Given the description of an element on the screen output the (x, y) to click on. 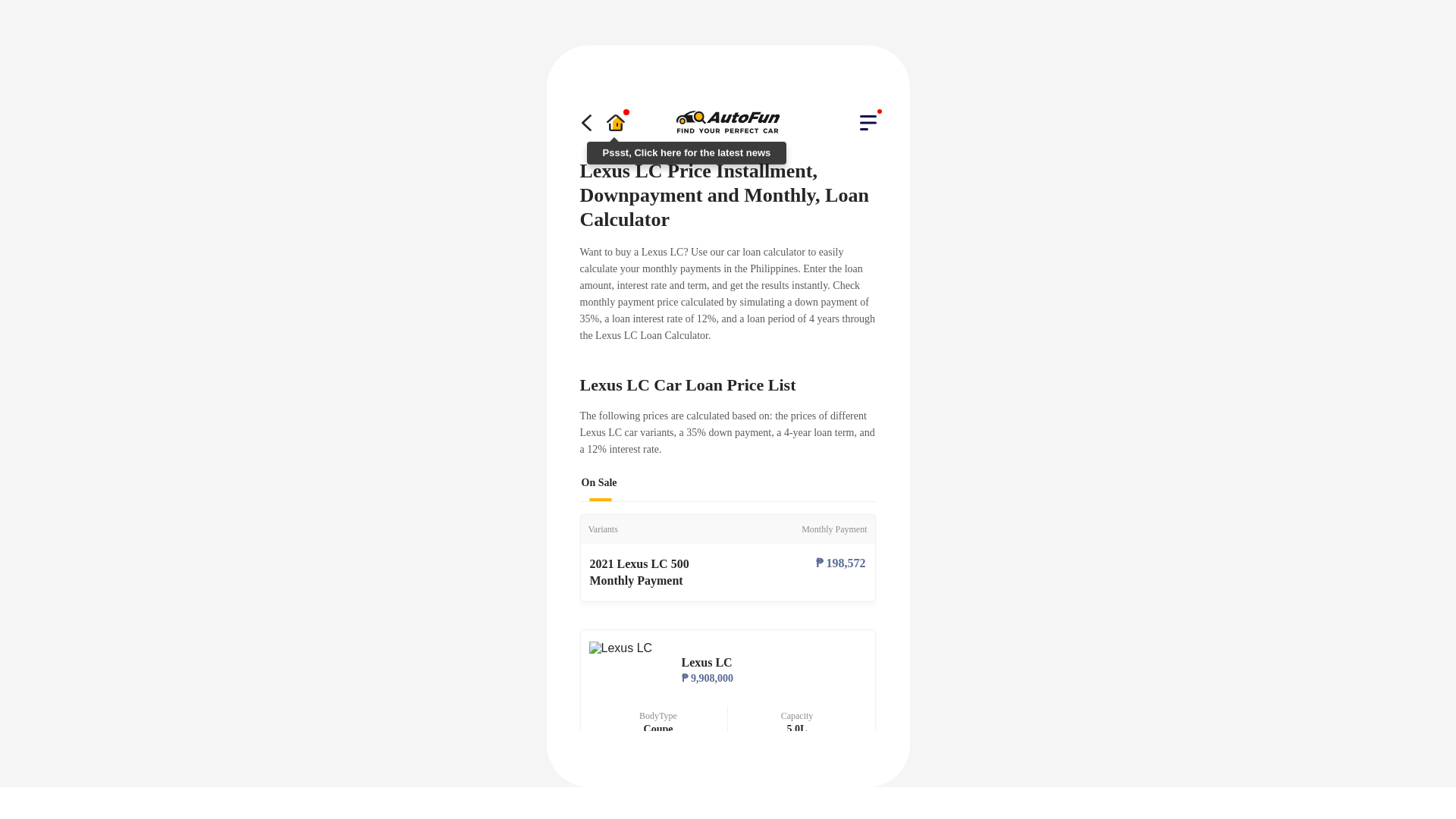
2021 Lexus LC 500 Monthly Payment (654, 572)
Lexus LC (620, 648)
Lexus LC (773, 662)
Pssst, Click here for the latest news (614, 122)
